Given the description of an element on the screen output the (x, y) to click on. 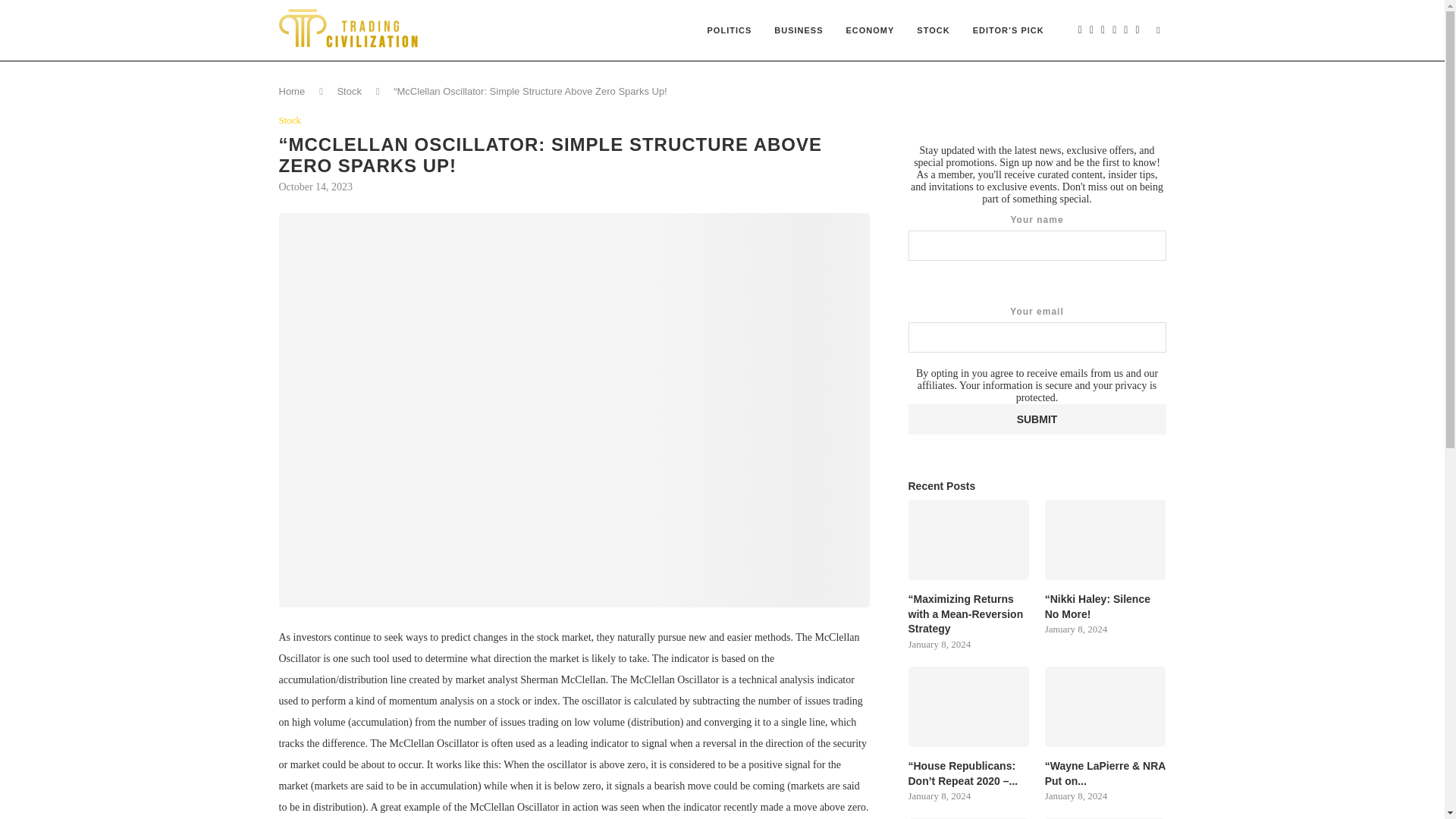
ECONOMY (869, 30)
Stock (290, 120)
STOCK (932, 30)
BUSINESS (798, 30)
POLITICS (728, 30)
Submit (1037, 419)
Home (292, 91)
Stock (348, 91)
